Given the description of an element on the screen output the (x, y) to click on. 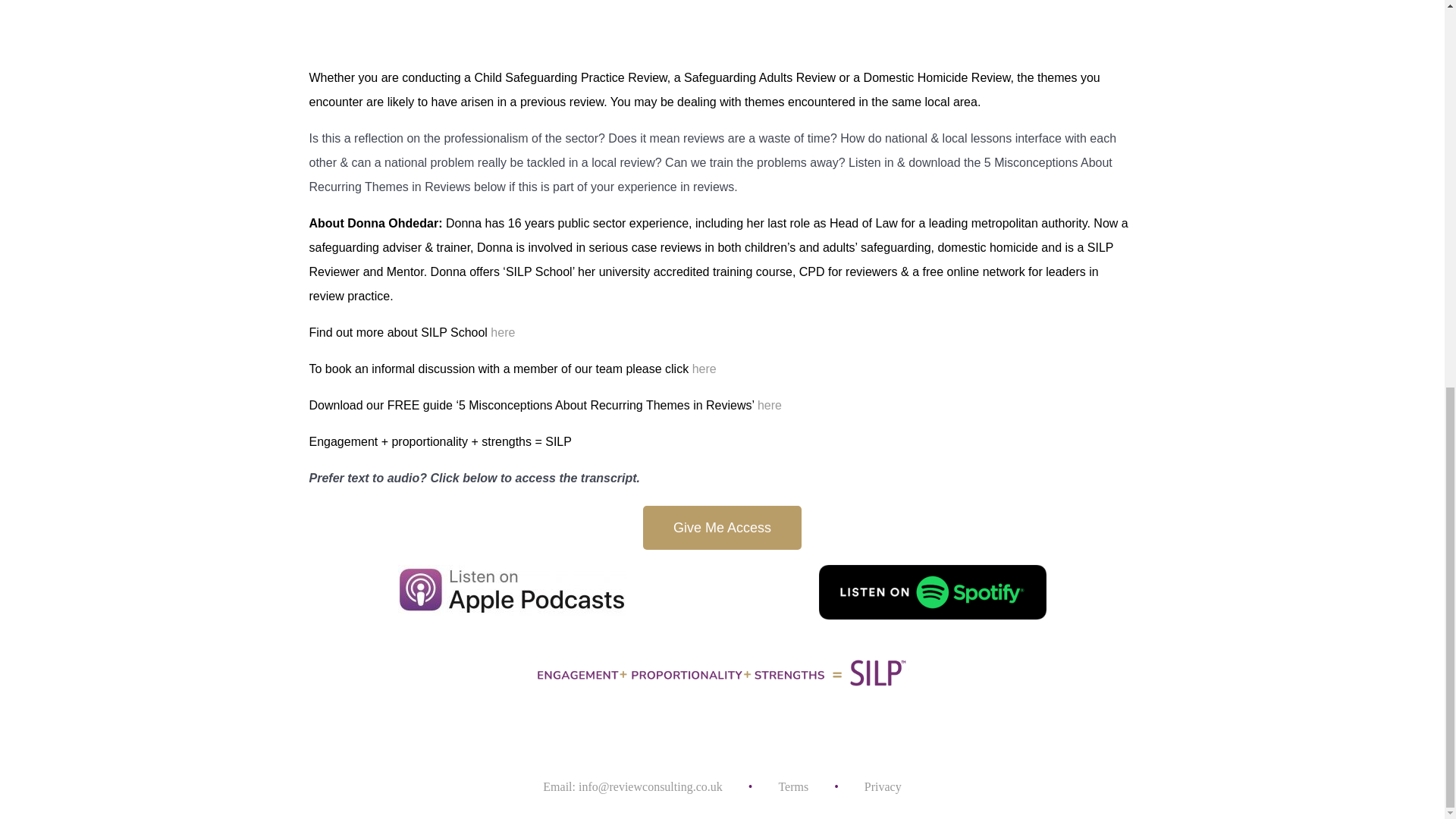
Give Me Access (722, 527)
Embed Player (721, 22)
here (502, 332)
here (704, 368)
here (769, 404)
